Given the description of an element on the screen output the (x, y) to click on. 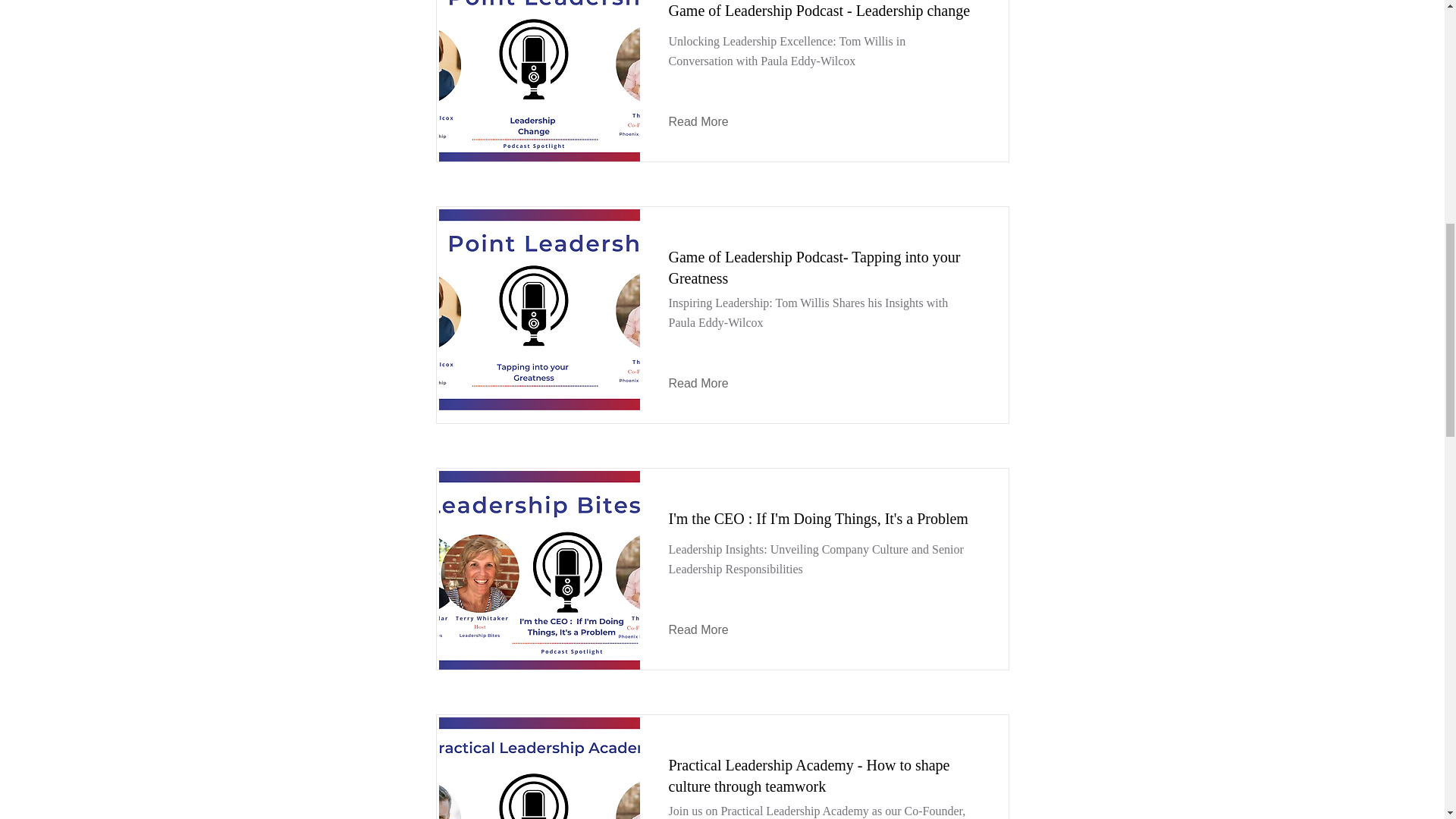
Leadership Bites Podcast spotlight.png (538, 570)
Paula Eddy-Wilcox of Podcast Spotlight 3.png (538, 81)
Paul Morton.png (538, 768)
Paula Eddy-Wilcox of Podcast Spotlight 1.png (538, 309)
